Given the description of an element on the screen output the (x, y) to click on. 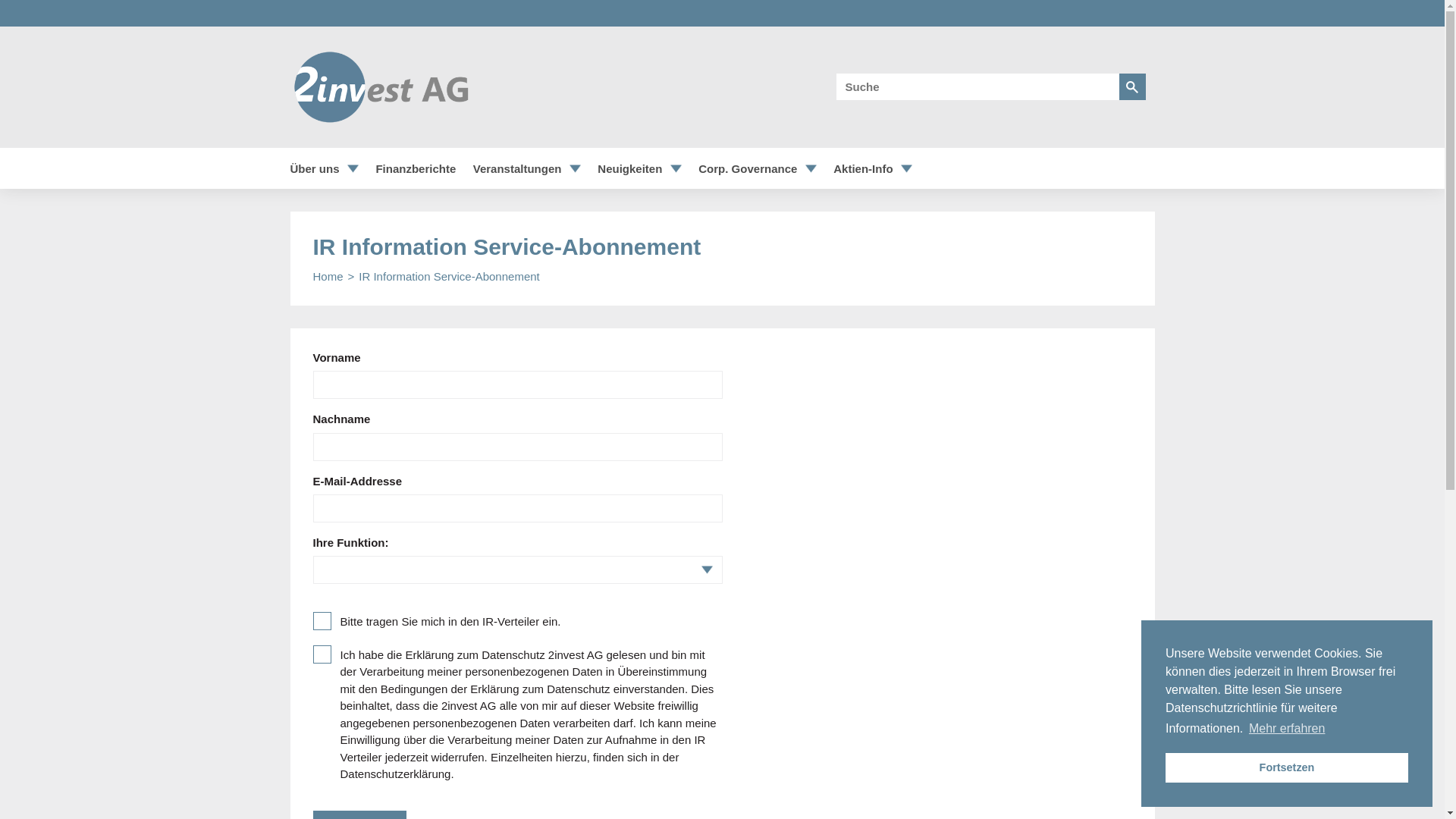
Mehr erfahren Element type: text (1286, 728)
Home Element type: text (327, 275)
Veranstaltungen Element type: text (517, 168)
Neuigkeiten Element type: text (629, 168)
Finanzberichte Element type: text (415, 168)
Fortsetzen Element type: text (1286, 767)
Aktien-Info Element type: text (862, 168)
Corp. Governance Element type: text (747, 168)
